Given the description of an element on the screen output the (x, y) to click on. 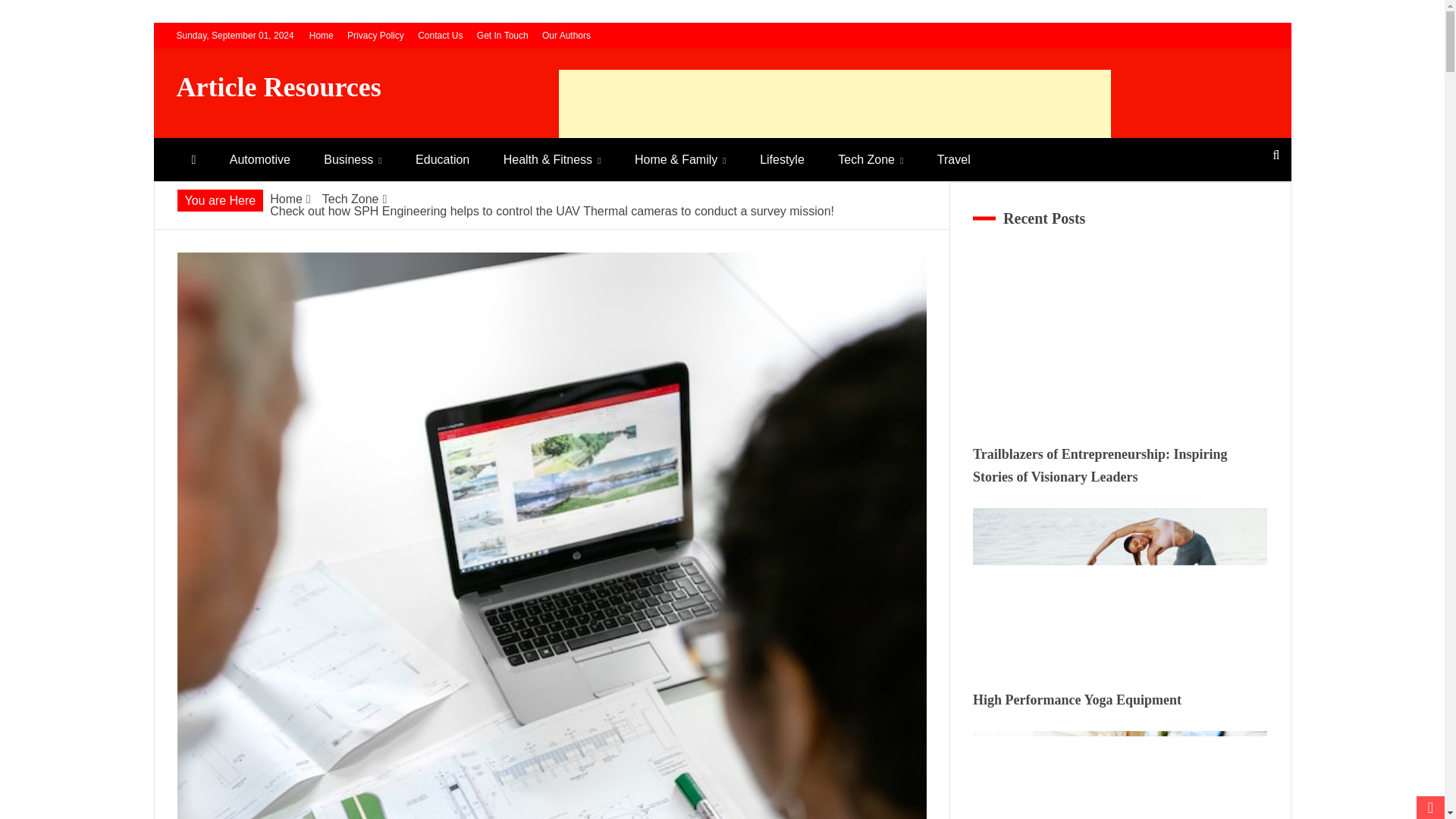
Education (442, 159)
Automotive (259, 159)
Tech Zone (349, 198)
Home (285, 198)
Home (320, 35)
Search (31, 13)
Tech Zone (870, 159)
Travel (953, 159)
Privacy Policy (375, 35)
Lifestyle (781, 159)
